Given the description of an element on the screen output the (x, y) to click on. 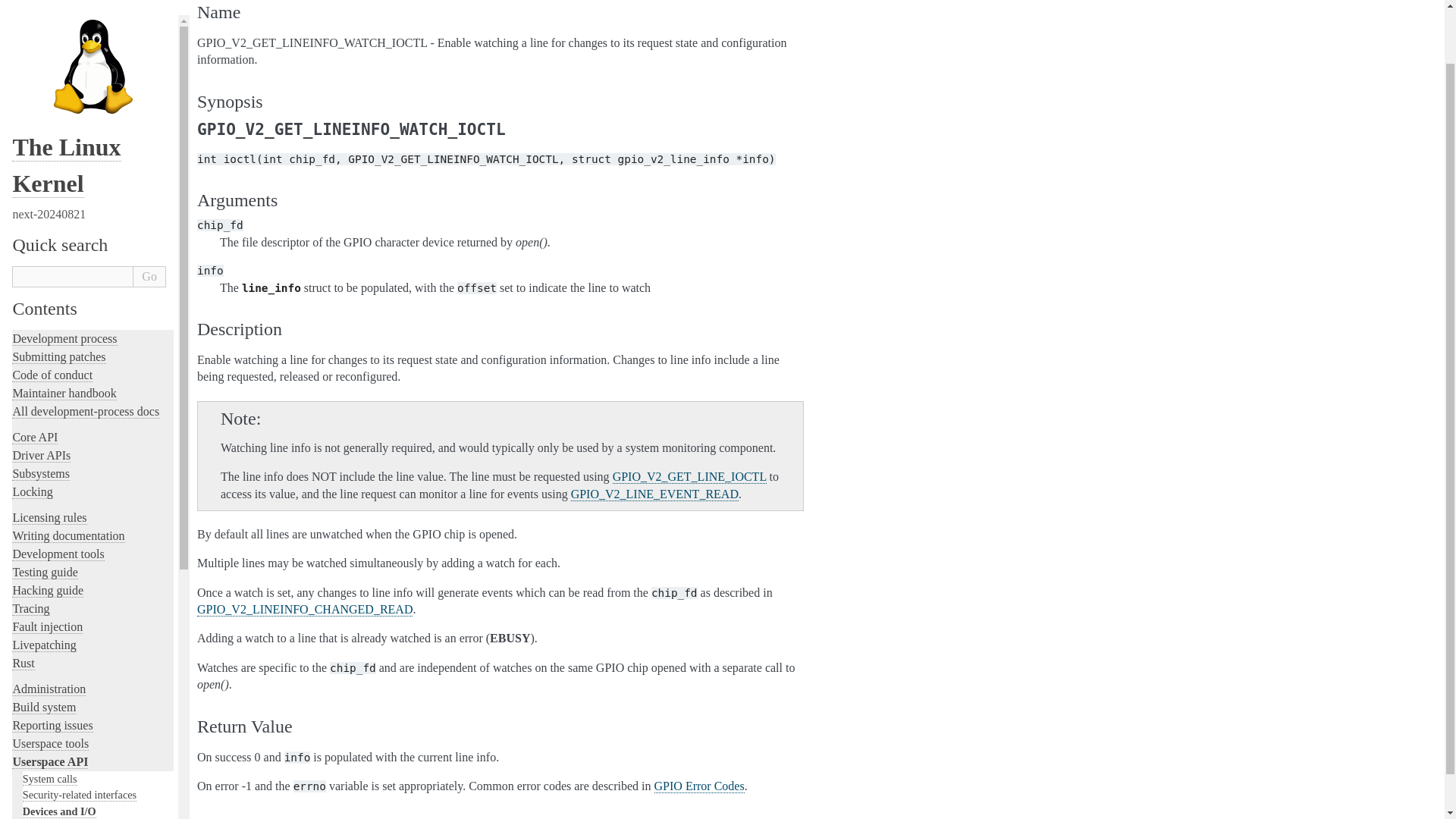
Hacking guide (46, 530)
Testing guide (44, 511)
The Linux Kernel (65, 104)
Reporting issues (52, 664)
Rust (22, 602)
Driver APIs (40, 395)
Exchanging pixel buffers (82, 796)
Build system (43, 646)
Core API (34, 377)
All development-process docs (84, 350)
